Given the description of an element on the screen output the (x, y) to click on. 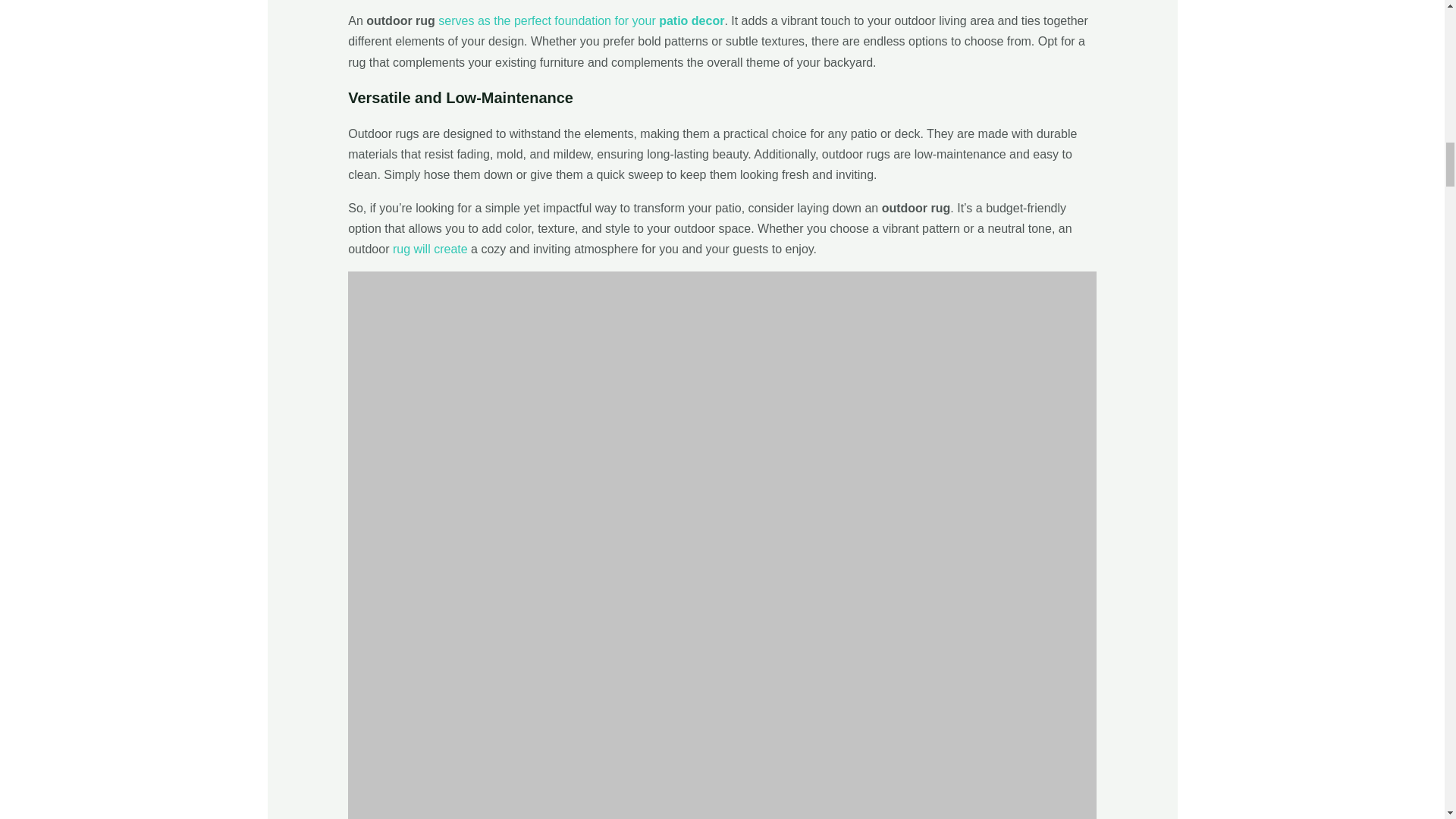
serves as the perfect foundation for your patio decor (580, 20)
rug will create (430, 248)
